Given the description of an element on the screen output the (x, y) to click on. 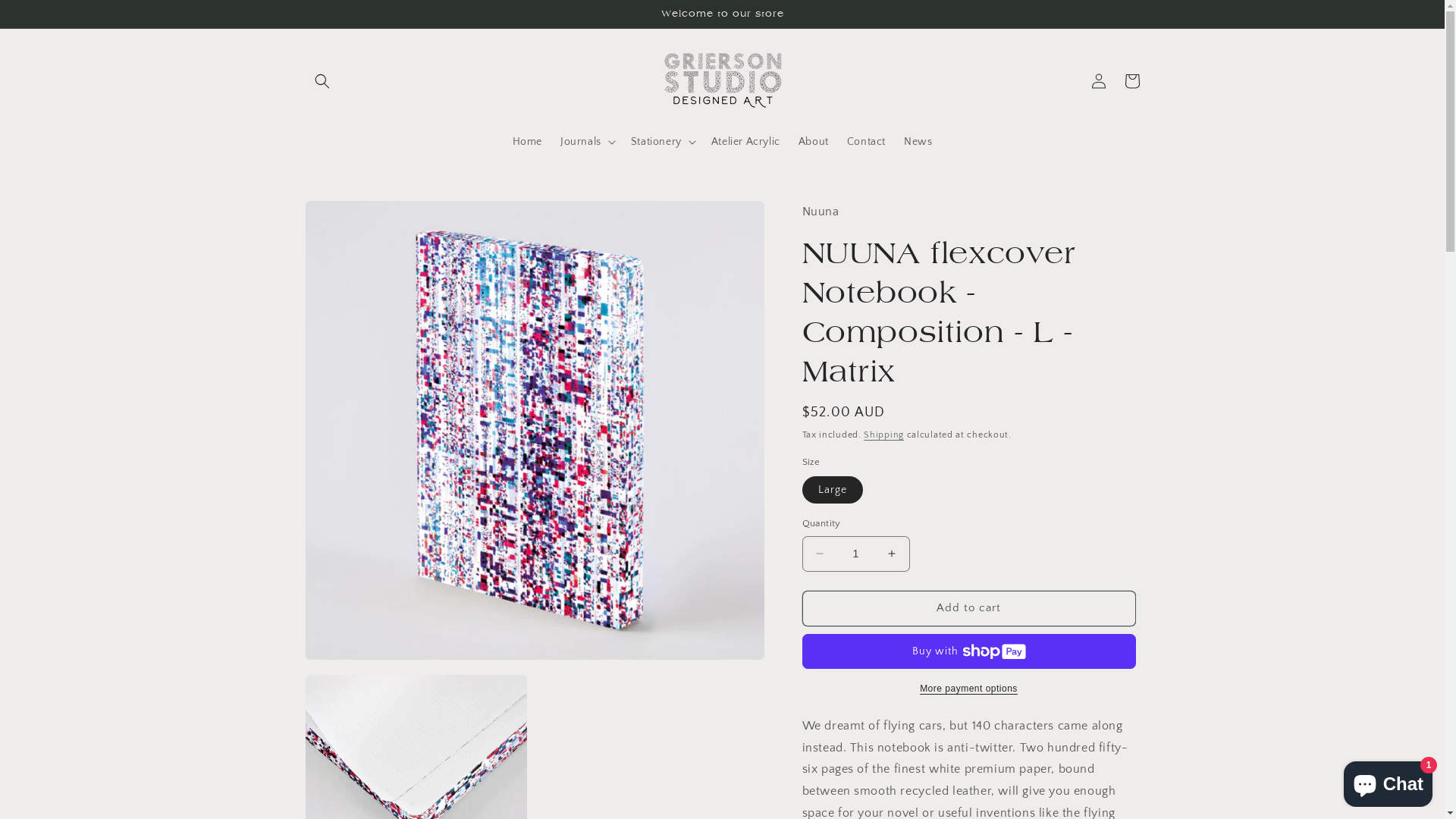
Cart Element type: text (1131, 80)
Atelier Acrylic Element type: text (745, 141)
Contact Element type: text (865, 141)
Home Element type: text (527, 141)
Shopify online store chat Element type: hover (1388, 780)
About Element type: text (813, 141)
Shipping Element type: text (883, 434)
Add to cart Element type: text (968, 608)
Log in Element type: text (1097, 80)
More payment options Element type: text (968, 688)
News Element type: text (917, 141)
Skip to product information Element type: text (350, 217)
